Given the description of an element on the screen output the (x, y) to click on. 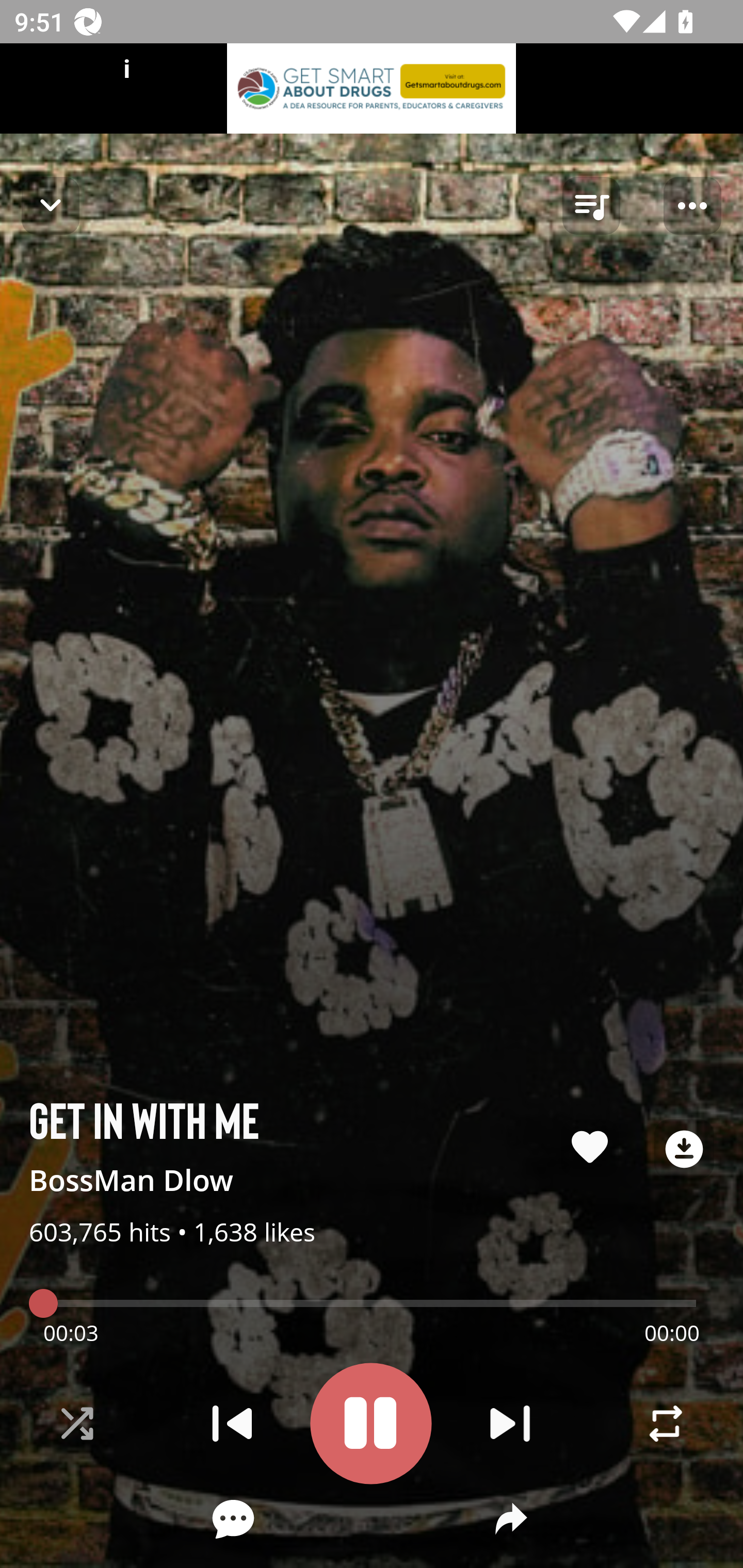
Navigate up (50, 205)
queue (590, 206)
Player options (692, 206)
